Given the description of an element on the screen output the (x, y) to click on. 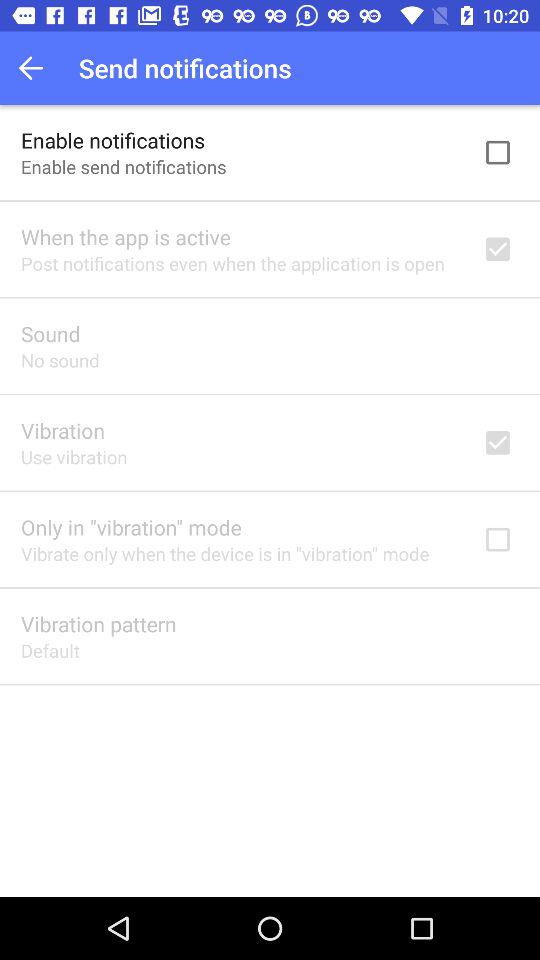
click app below sound icon (60, 360)
